Given the description of an element on the screen output the (x, y) to click on. 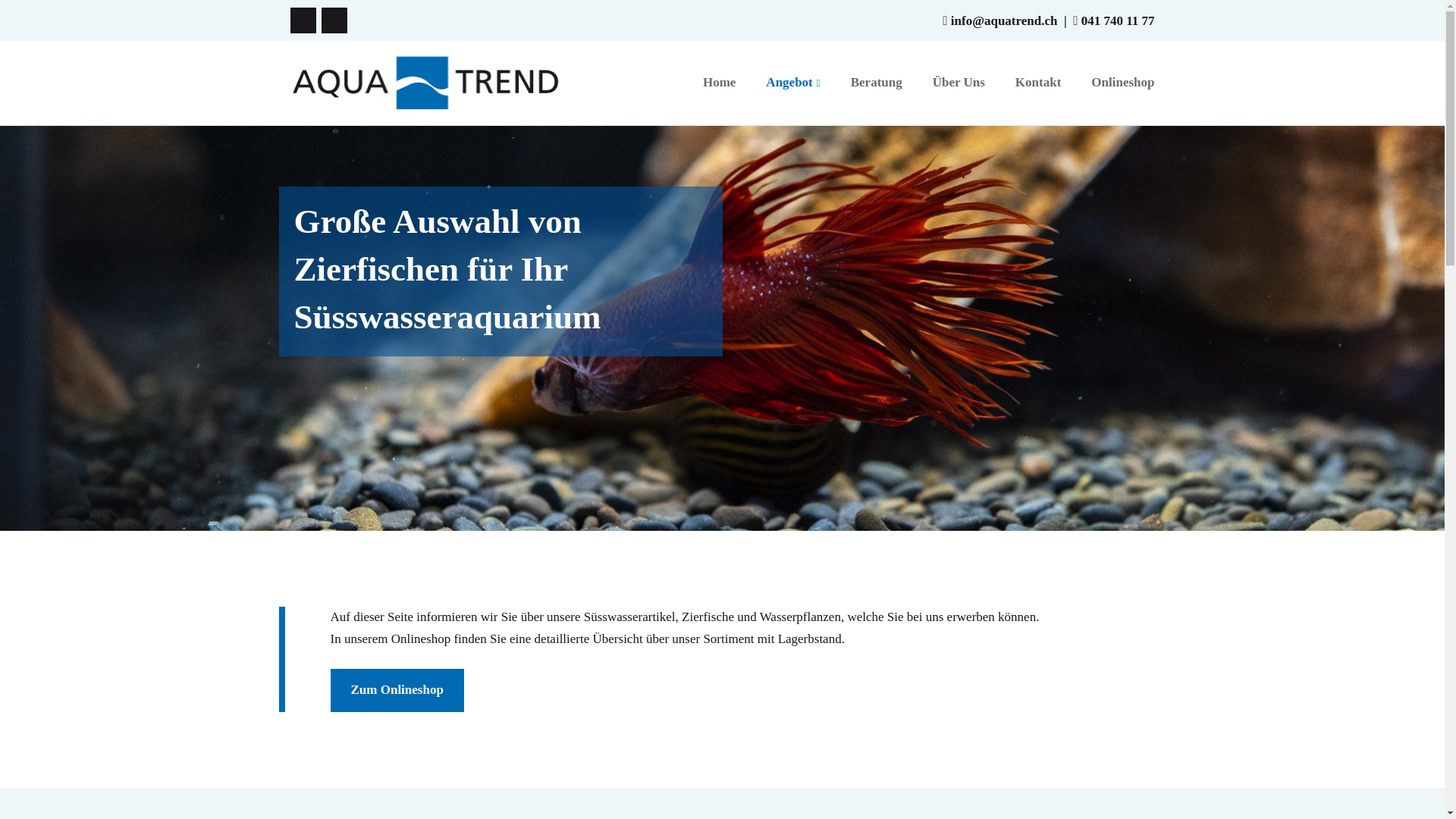
Kontakt Element type: text (1037, 82)
Beratung Element type: text (876, 82)
Onlineshop Element type: text (1122, 82)
Angebot Element type: text (792, 82)
Home Element type: text (718, 82)
041 740 11 77 Element type: text (1117, 20)
info@aquatrend.ch Element type: text (1003, 20)
Zum Onlineshop Element type: text (397, 690)
